Given the description of an element on the screen output the (x, y) to click on. 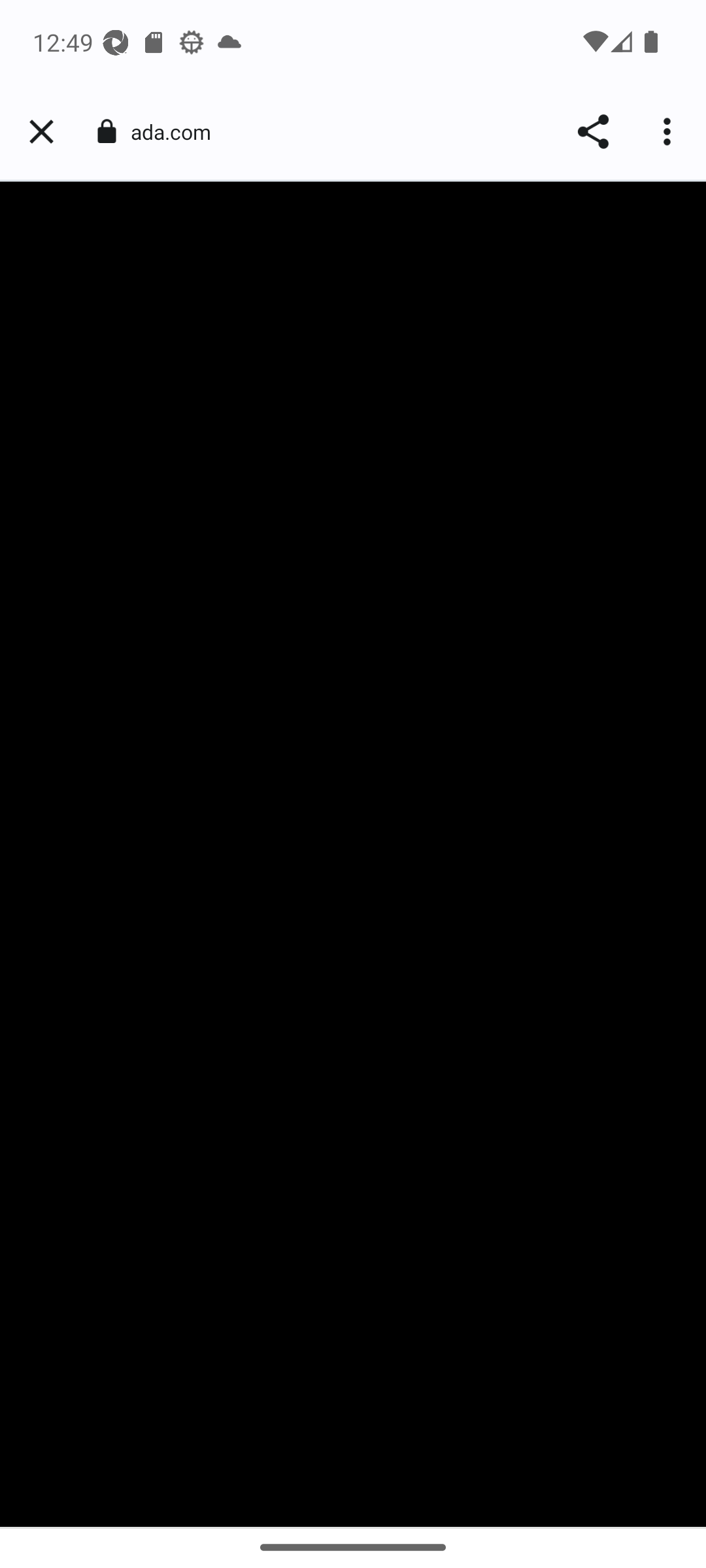
Close tab (41, 131)
Share (592, 131)
More options (669, 131)
Connection is secure (106, 131)
ada.com (177, 131)
